Given the description of an element on the screen output the (x, y) to click on. 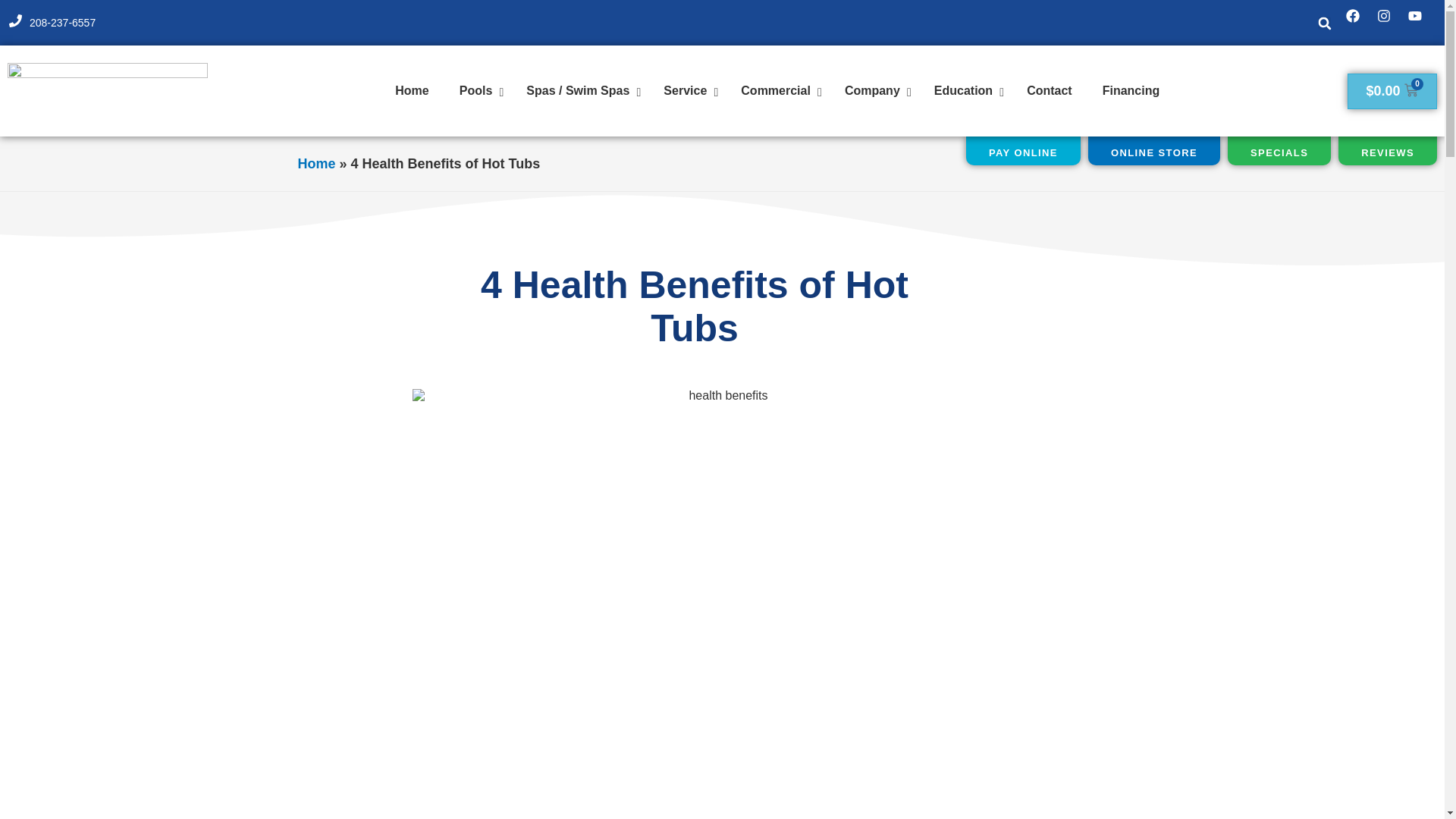
Pools (478, 91)
Home (412, 91)
208-237-6557 (62, 22)
